Given the description of an element on the screen output the (x, y) to click on. 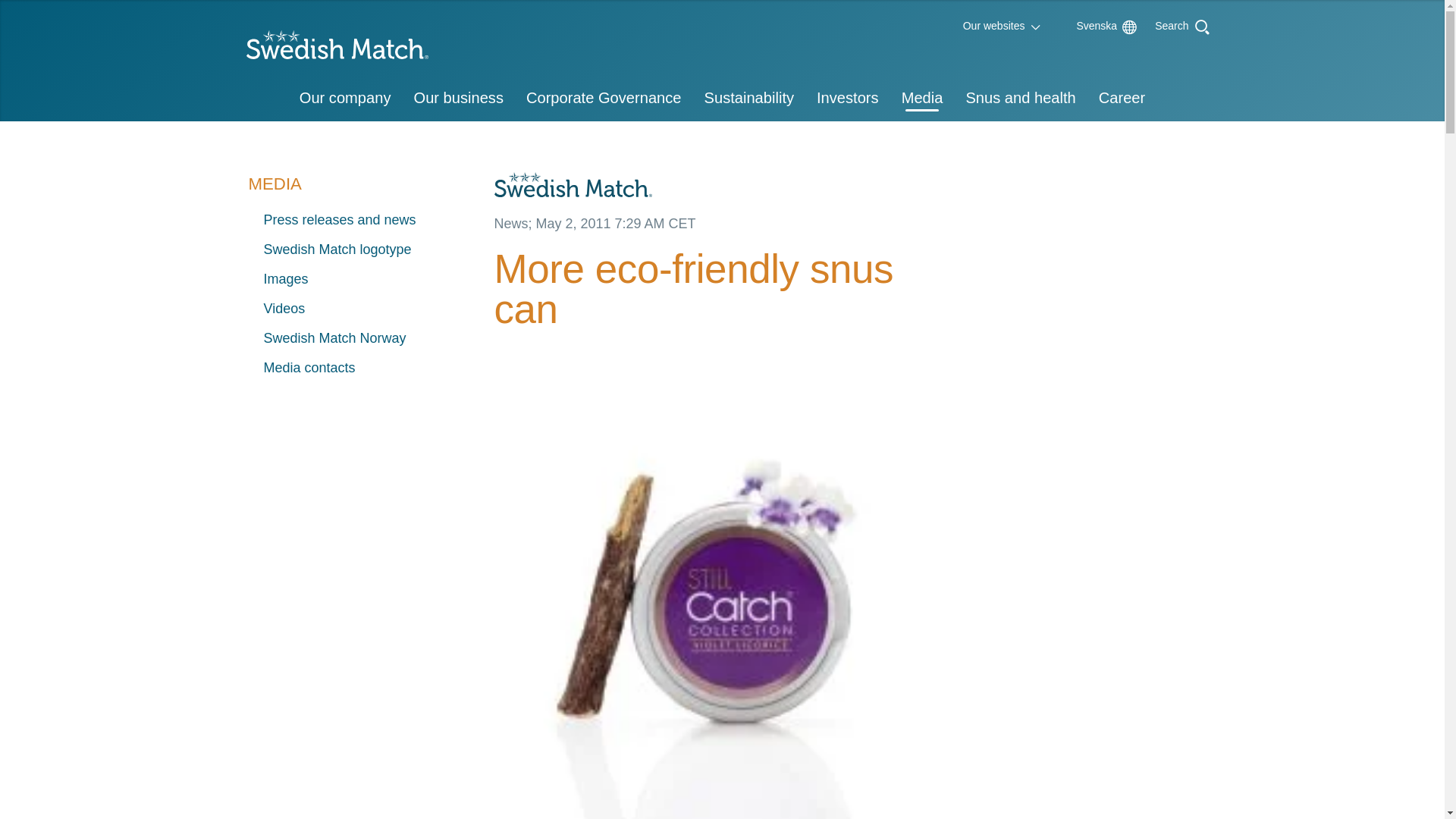
Our business (457, 98)
Our company (345, 98)
Swedish Match (331, 48)
Search (1171, 23)
Our websites (994, 25)
Svenska (1089, 25)
